Given the description of an element on the screen output the (x, y) to click on. 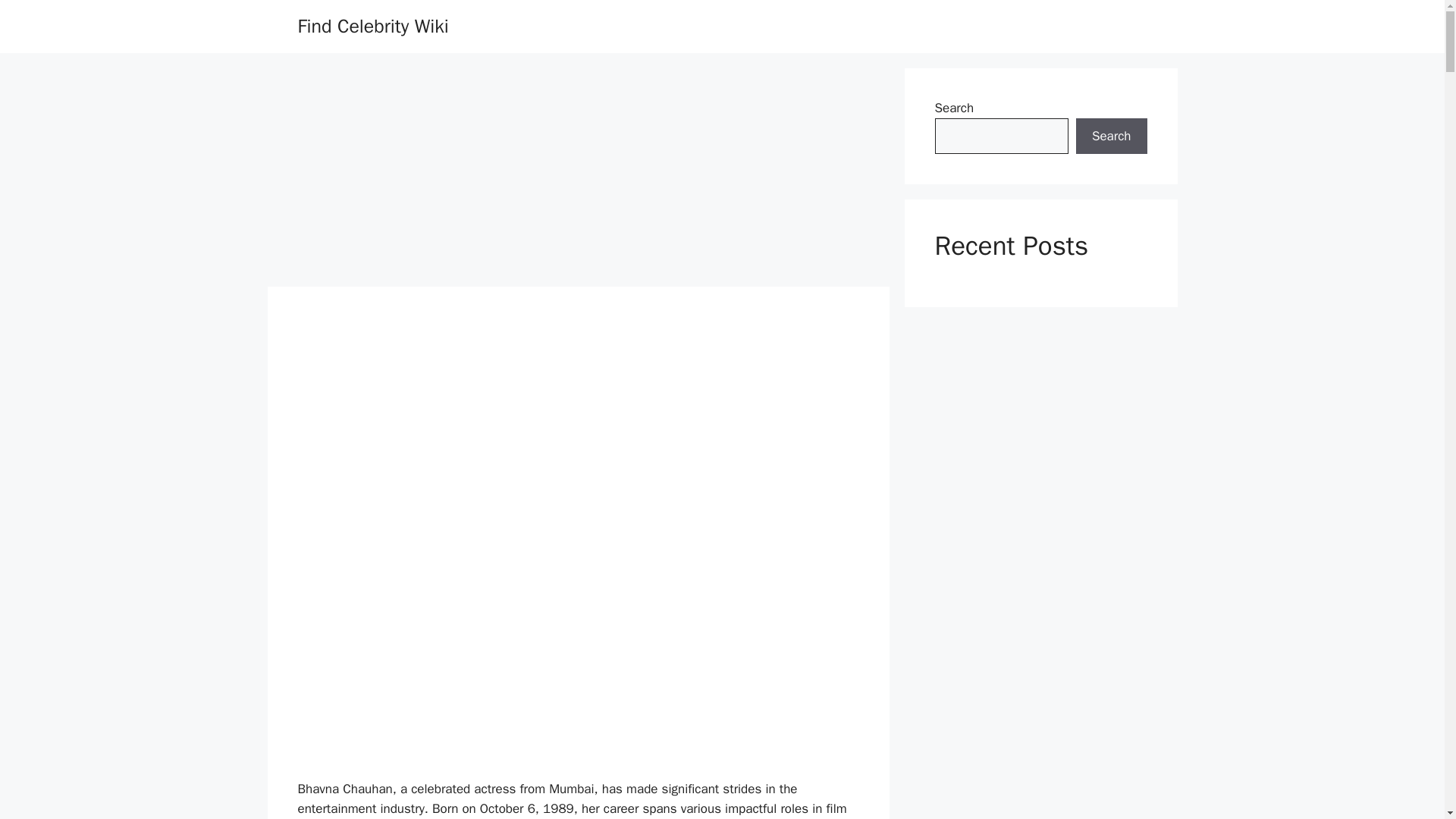
Advertisement (578, 449)
Search (1111, 135)
Find Celebrity Wiki (372, 25)
Advertisement (577, 173)
Advertisement (578, 667)
